Given the description of an element on the screen output the (x, y) to click on. 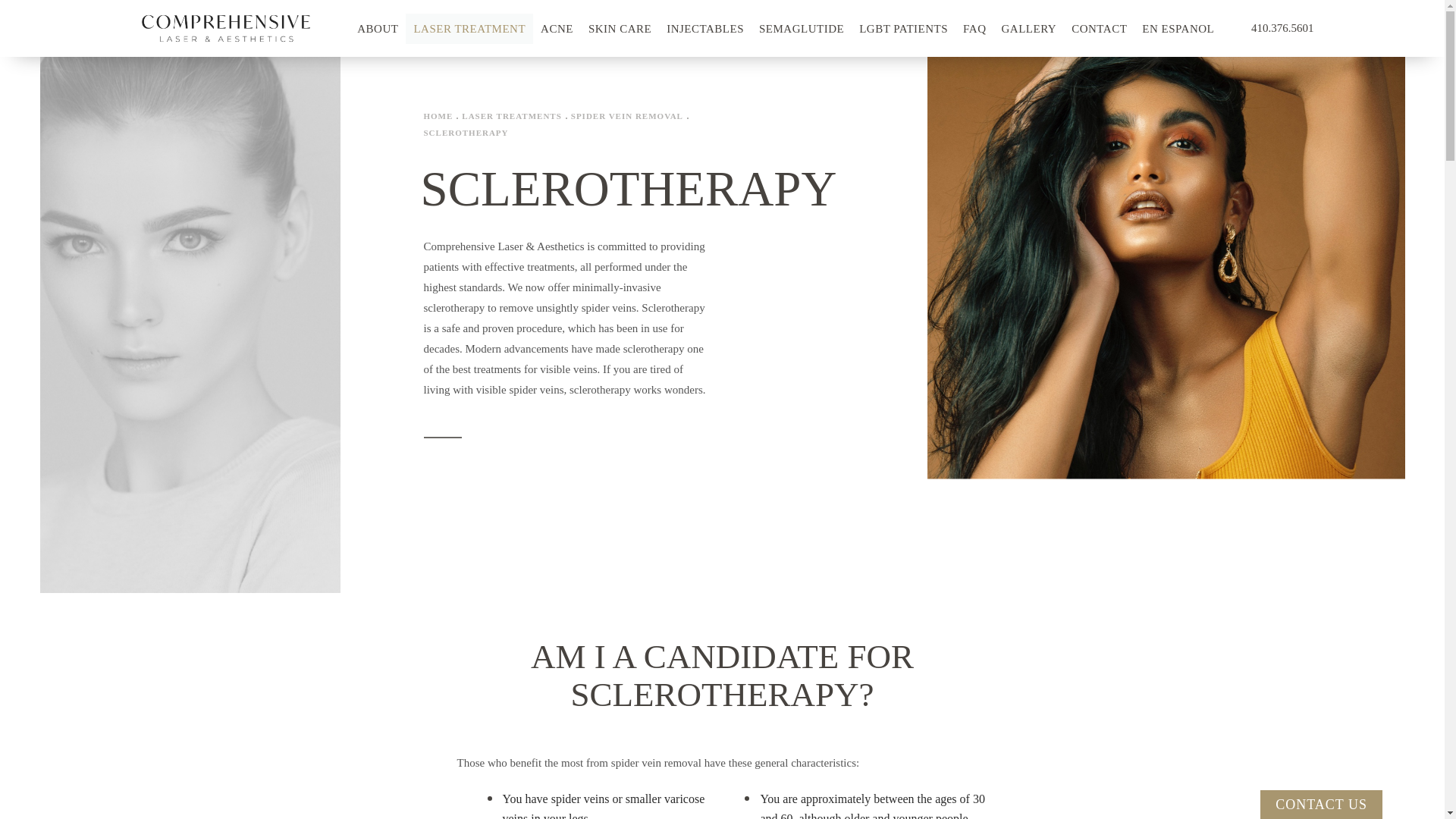
ABOUT (377, 28)
SKIN CARE (619, 28)
ACNE (556, 28)
LASER TREATMENT (469, 28)
